Given the description of an element on the screen output the (x, y) to click on. 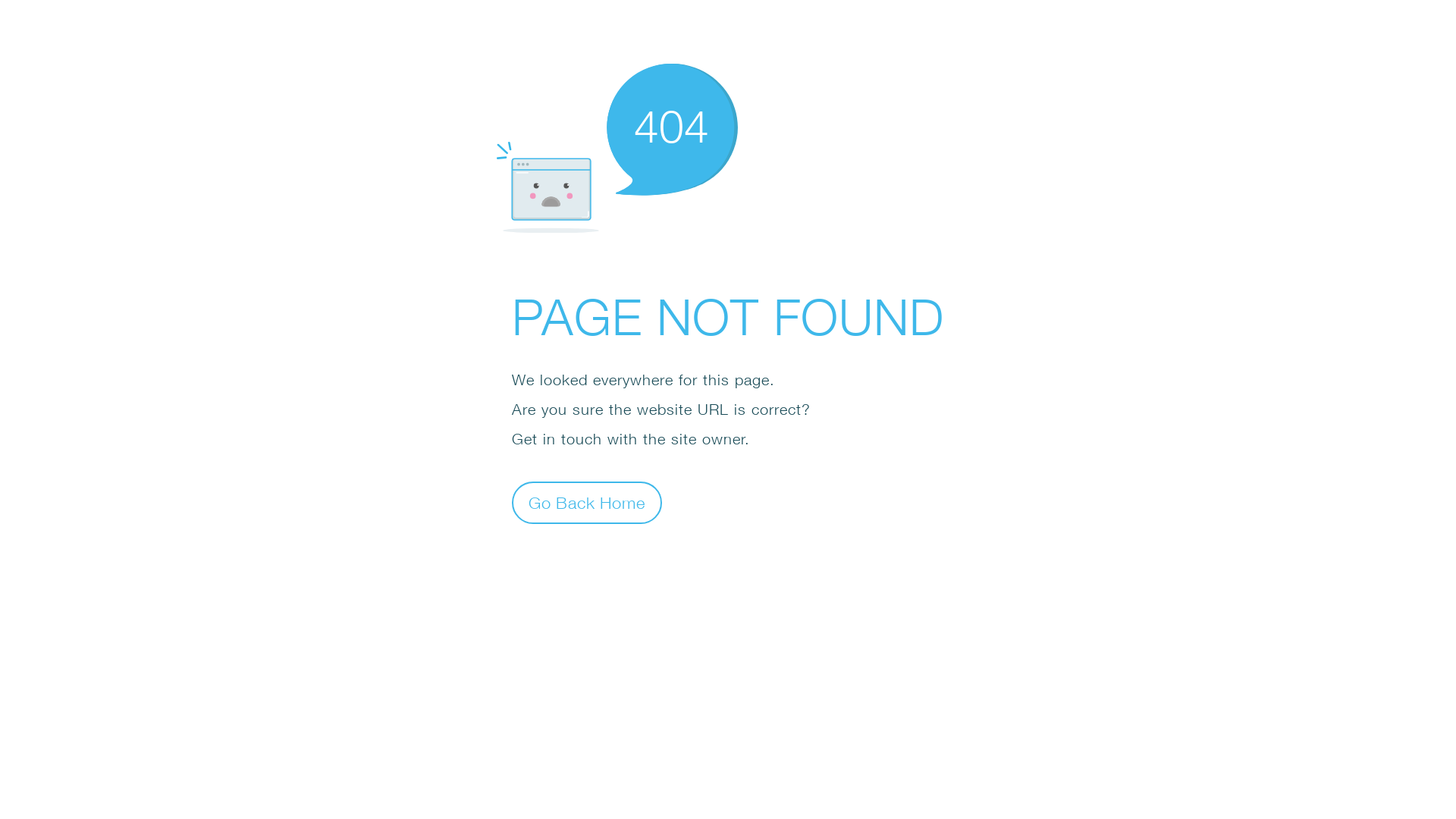
Go Back Home Element type: text (586, 502)
